Given the description of an element on the screen output the (x, y) to click on. 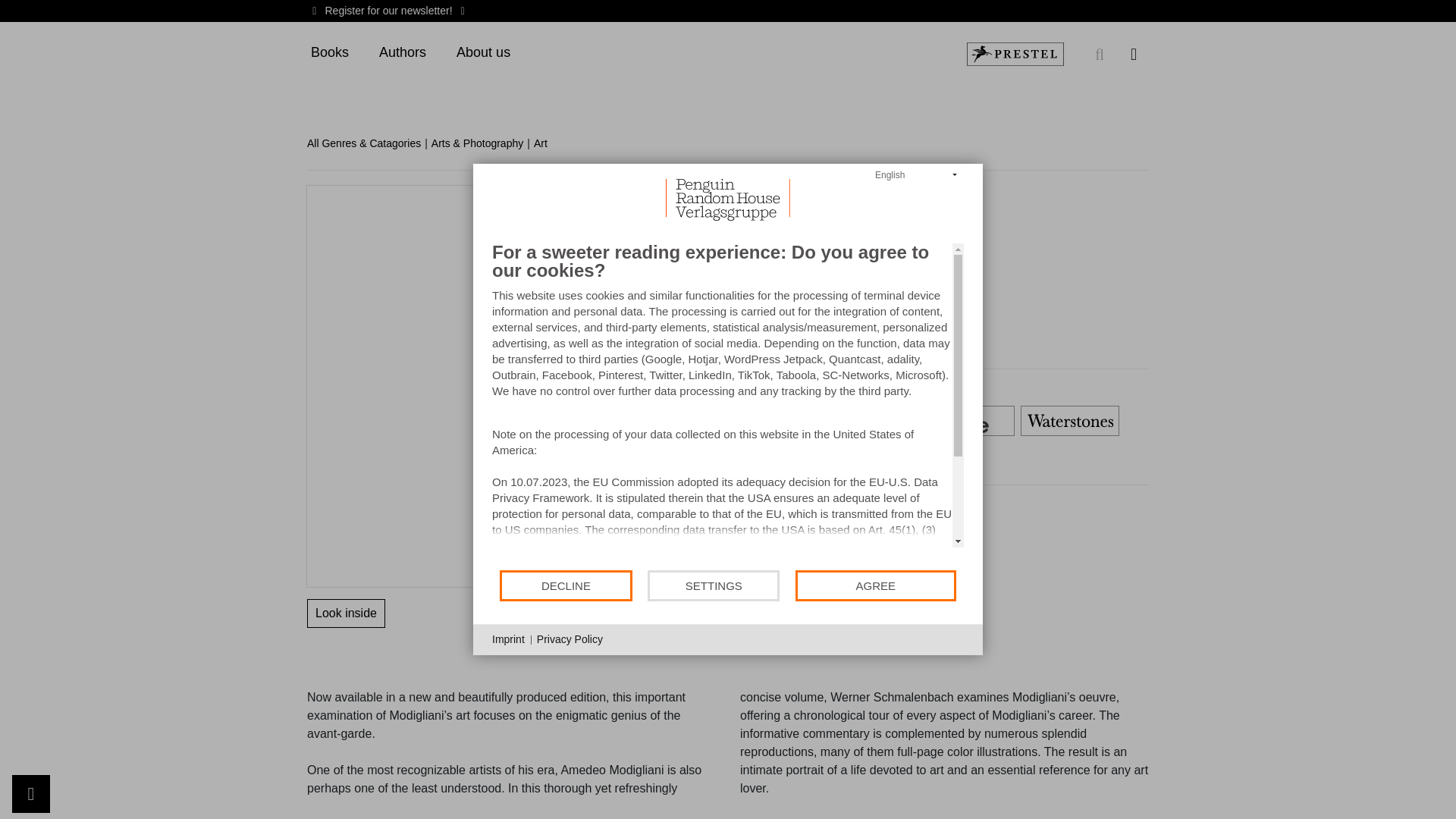
Authors (402, 52)
bookshop (860, 421)
waterstones (1069, 421)
hive (964, 421)
About us (483, 52)
amazoncouk (651, 421)
Look inside (346, 613)
otherstores (651, 458)
Books (329, 52)
blackwells (755, 421)
Art (545, 142)
Werner Schmalenbach (663, 193)
Register for our newsletter! (388, 10)
